Given the description of an element on the screen output the (x, y) to click on. 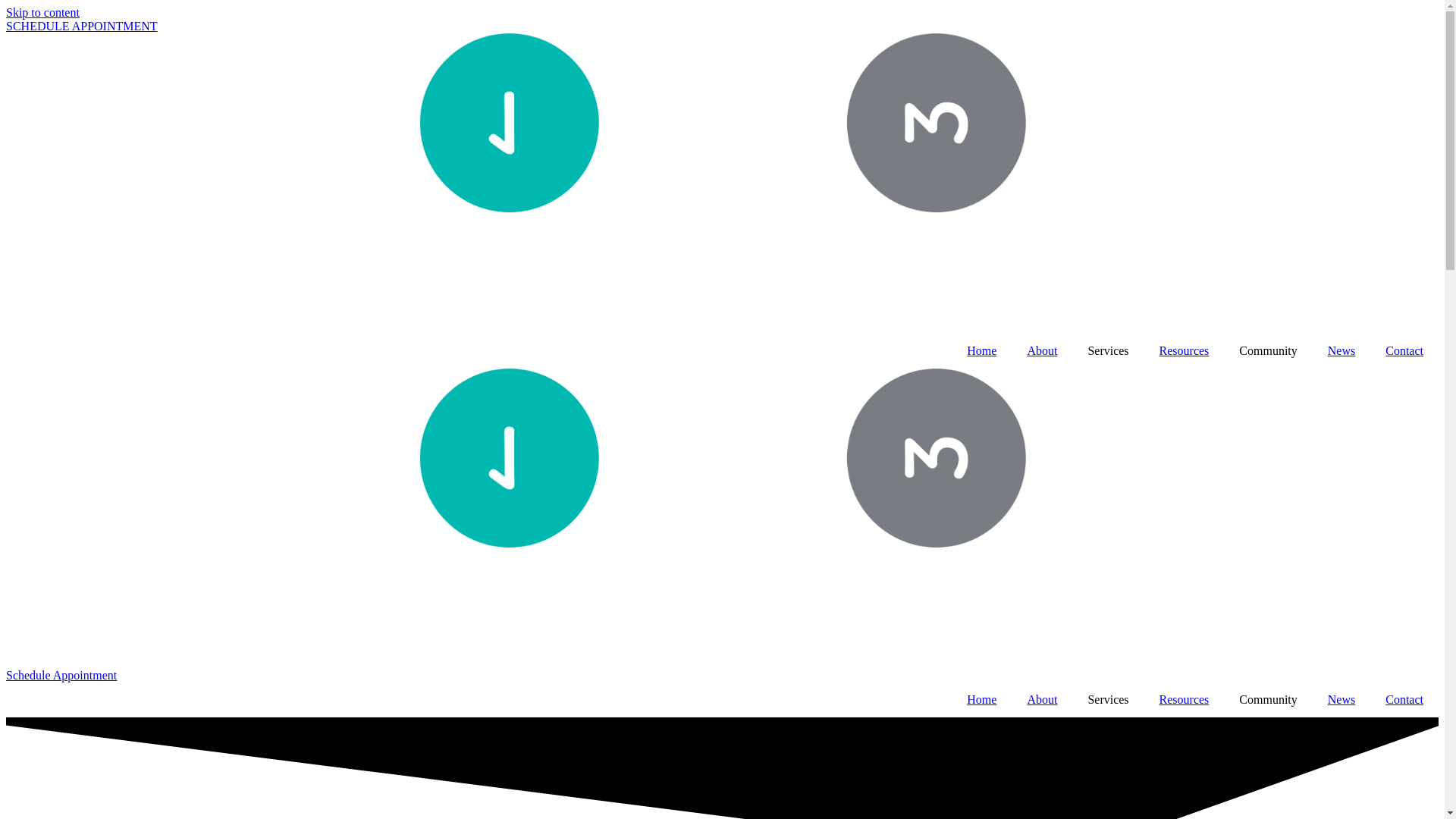
About Element type: text (1041, 699)
News Element type: text (1341, 350)
Resources Element type: text (1184, 350)
About Element type: text (1041, 350)
Contact Element type: text (1404, 350)
Home Element type: text (981, 699)
Community Element type: text (1267, 350)
Contact Element type: text (1404, 699)
News Element type: text (1341, 699)
Resources Element type: text (1184, 699)
Home Element type: text (981, 350)
Services Element type: text (1107, 699)
Community Element type: text (1267, 699)
Services Element type: text (1107, 350)
Skip to content Element type: text (42, 12)
SCHEDULE APPOINTMENT Element type: text (81, 25)
Schedule Appointment Element type: text (61, 674)
